Given the description of an element on the screen output the (x, y) to click on. 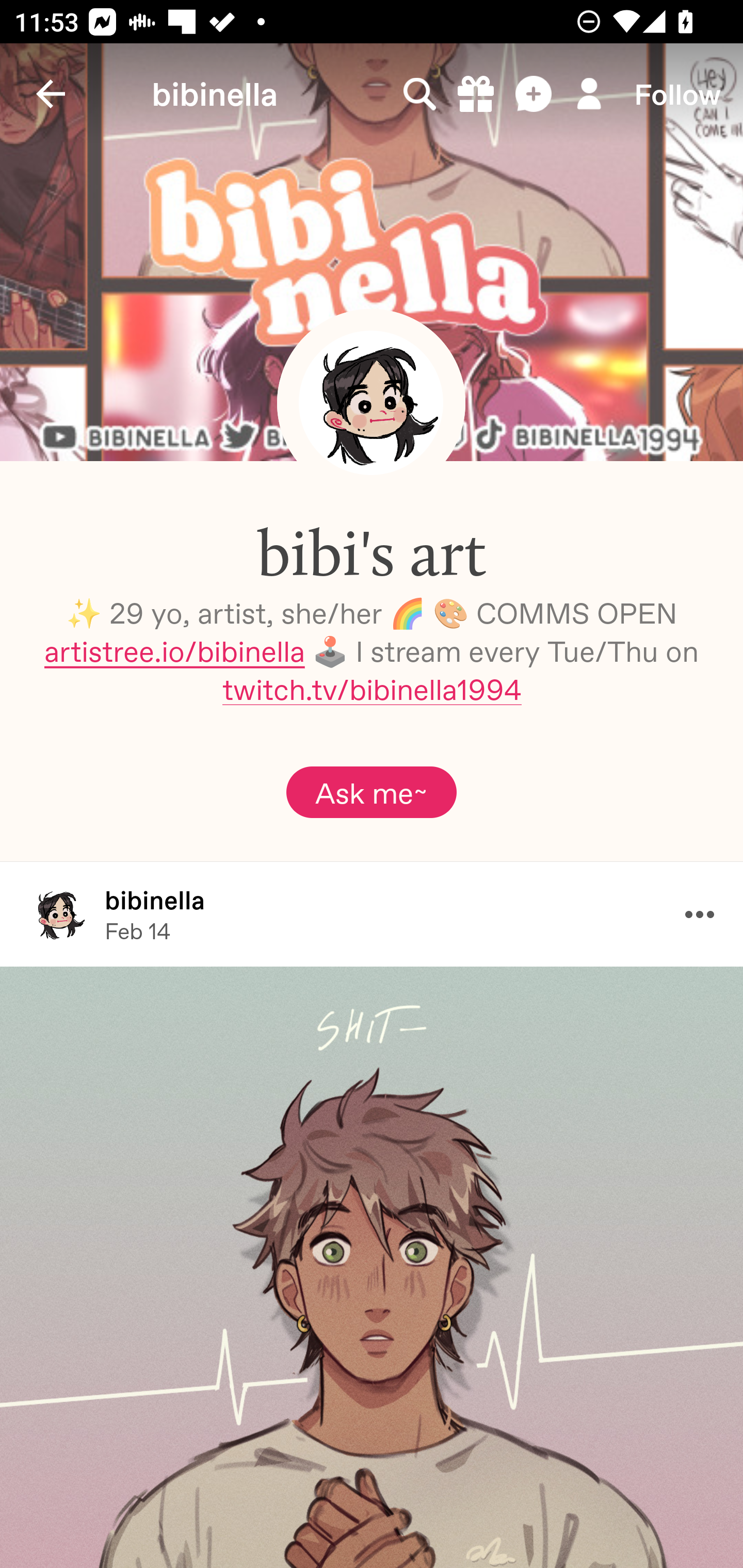
Navigate up (50, 93)
Messages (535, 93)
Follow (677, 93)
Avatar frame (371, 402)
Ask me~ (371, 792)
Avatar frame bibinella   bibinella Feb 14 (371, 912)
